Given the description of an element on the screen output the (x, y) to click on. 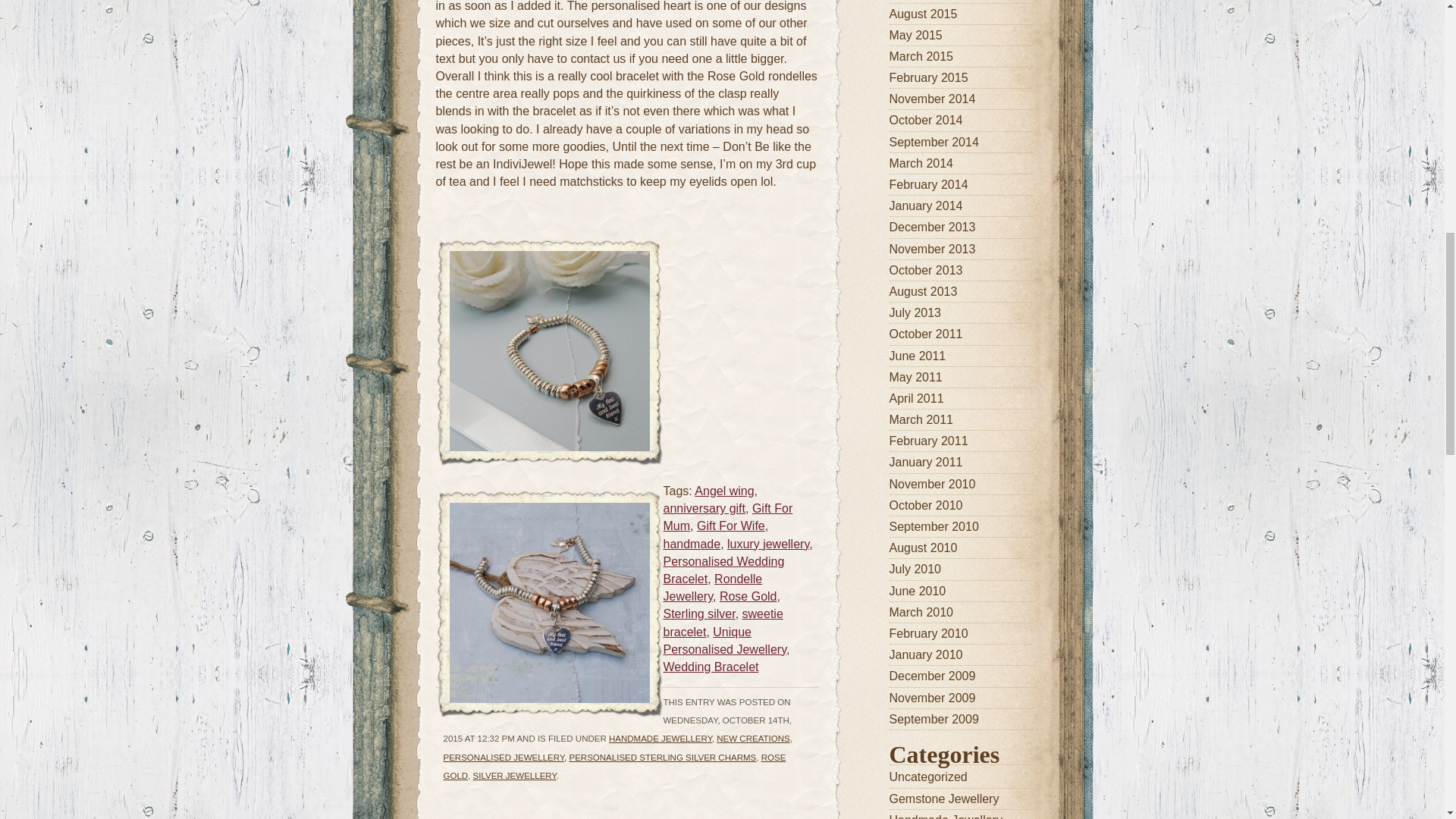
View all posts in Rose Gold (614, 766)
Wedding Bracelet (710, 666)
View all posts in Personalised Sterling Silver Charms (662, 757)
PERSONALISED JEWELLERY (503, 757)
New pieces of handmade jewellery (960, 815)
Unique Personalised Jewellery (724, 639)
Sterling silver (698, 613)
sweetie bracelet (722, 622)
View all posts in personalised jewellery (503, 757)
View all posts filed under Gemstone Jewellery (960, 798)
View all posts in New Creations (752, 737)
PERSONALISED STERLING SILVER CHARMS (662, 757)
luxury jewellery (767, 543)
handmade (691, 543)
View all posts filed under Uncategorized (960, 776)
